Given the description of an element on the screen output the (x, y) to click on. 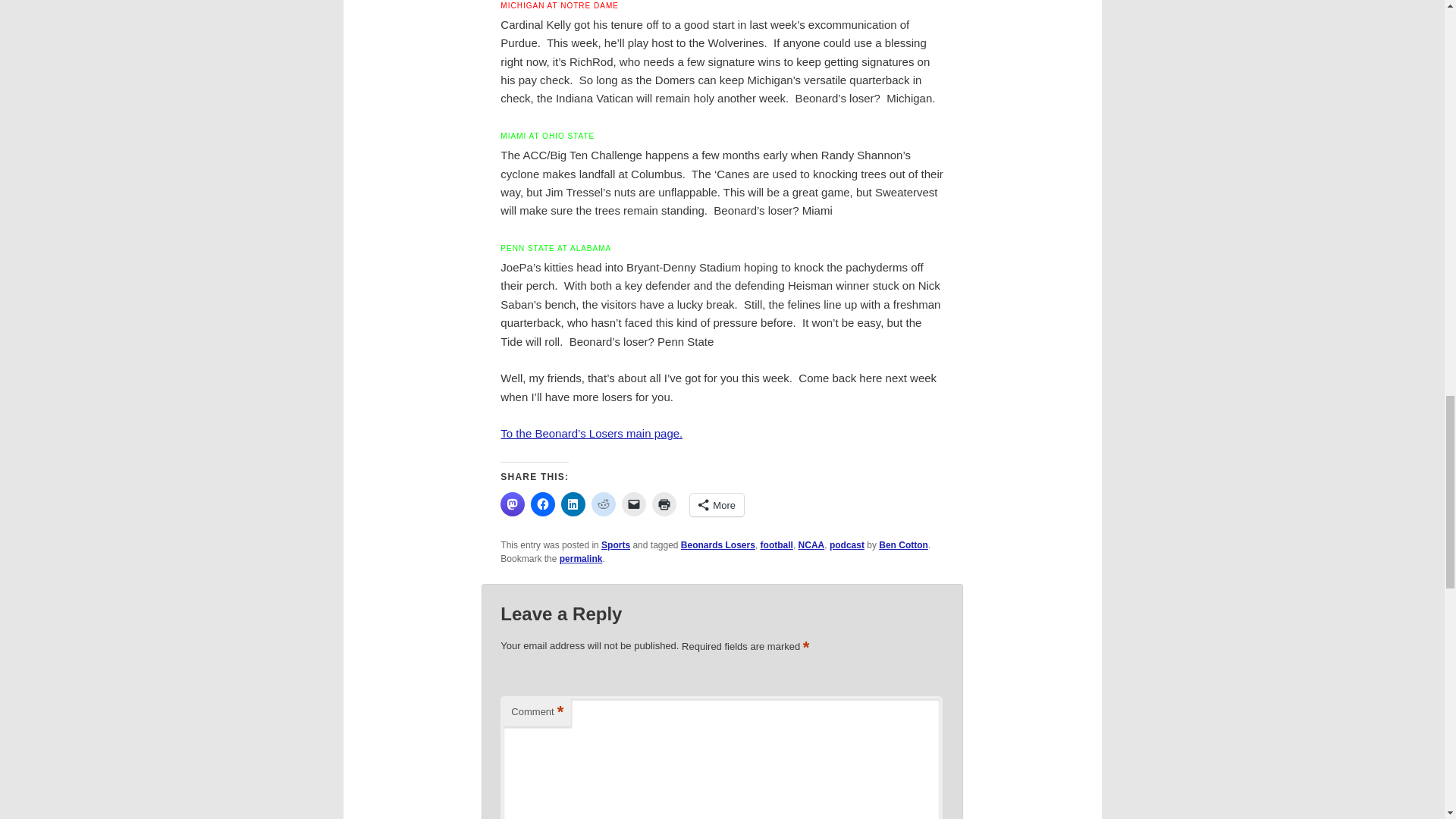
Ben Cotton (903, 544)
More (717, 504)
Click to share on Mastodon (512, 504)
NCAA (811, 544)
permalink (580, 558)
podcast (846, 544)
Click to share on Reddit (603, 504)
football (776, 544)
Click to email a link to a friend (633, 504)
Click to share on Facebook (542, 504)
Sports (615, 544)
Beonards Losers (718, 544)
Click to share on LinkedIn (572, 504)
Click to print (664, 504)
